Given the description of an element on the screen output the (x, y) to click on. 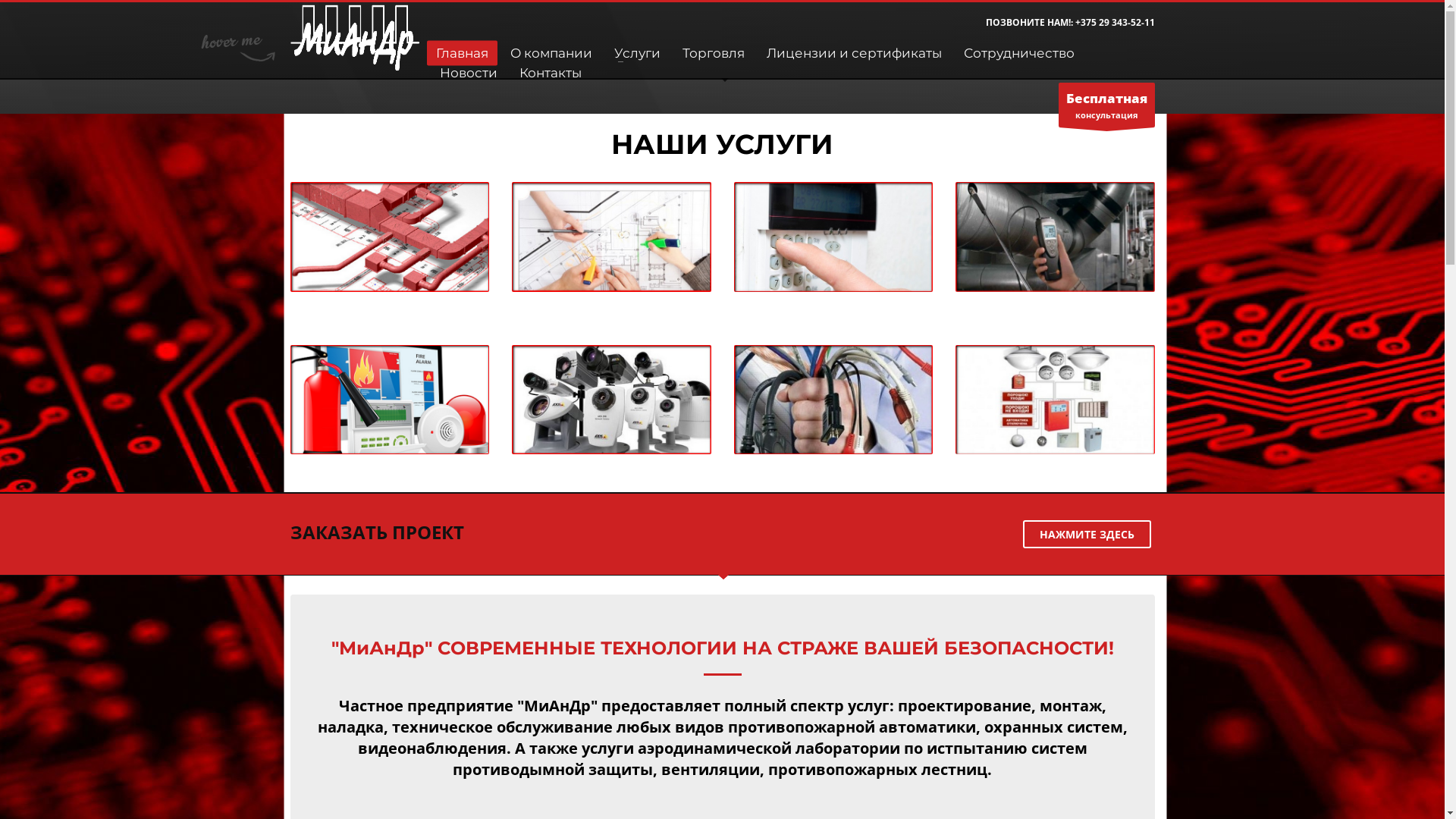
+375 29 343-52-11 Element type: text (1114, 21)
